Given the description of an element on the screen output the (x, y) to click on. 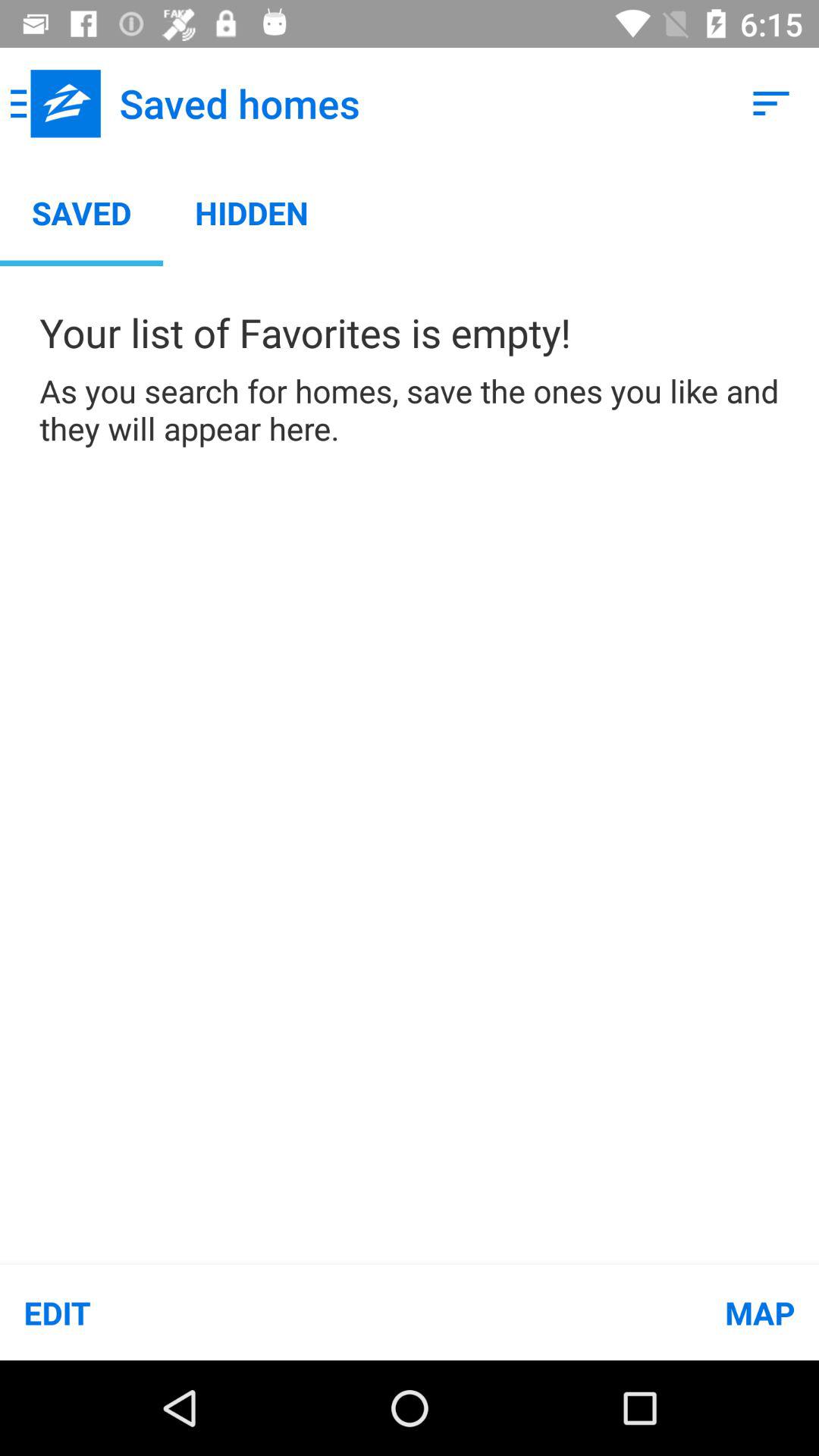
tap the item below the as you search (204, 1312)
